Given the description of an element on the screen output the (x, y) to click on. 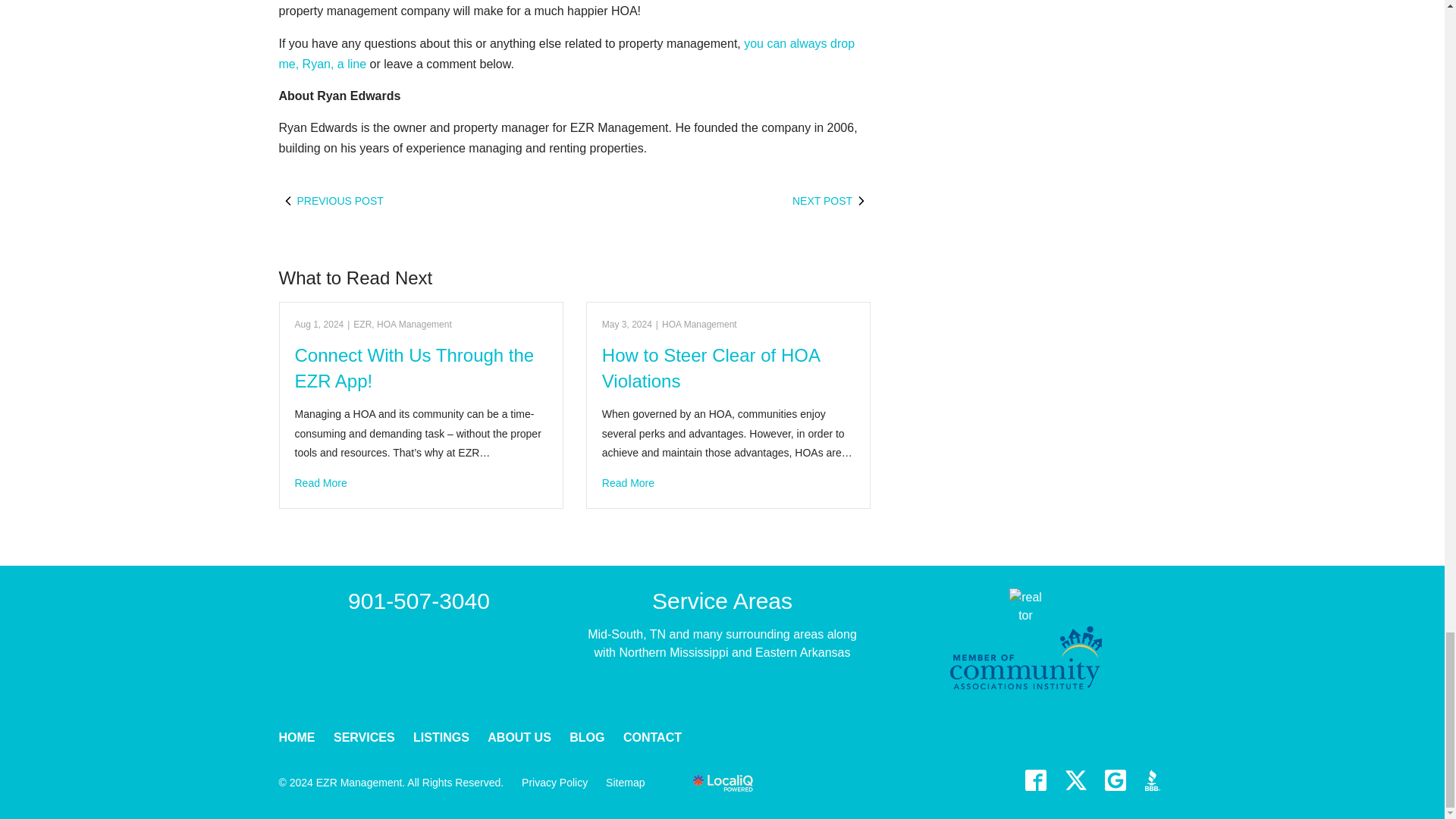
PREVIOUS POST (427, 200)
google (1115, 780)
facebook (1035, 780)
twitter (1075, 780)
How to Steer Clear of HOA Violations (728, 483)
bbb (1155, 780)
you can always drop me, Ryan, a line (567, 53)
Connect With Us Through the EZR App! (420, 483)
NEXT POST (722, 200)
